Given the description of an element on the screen output the (x, y) to click on. 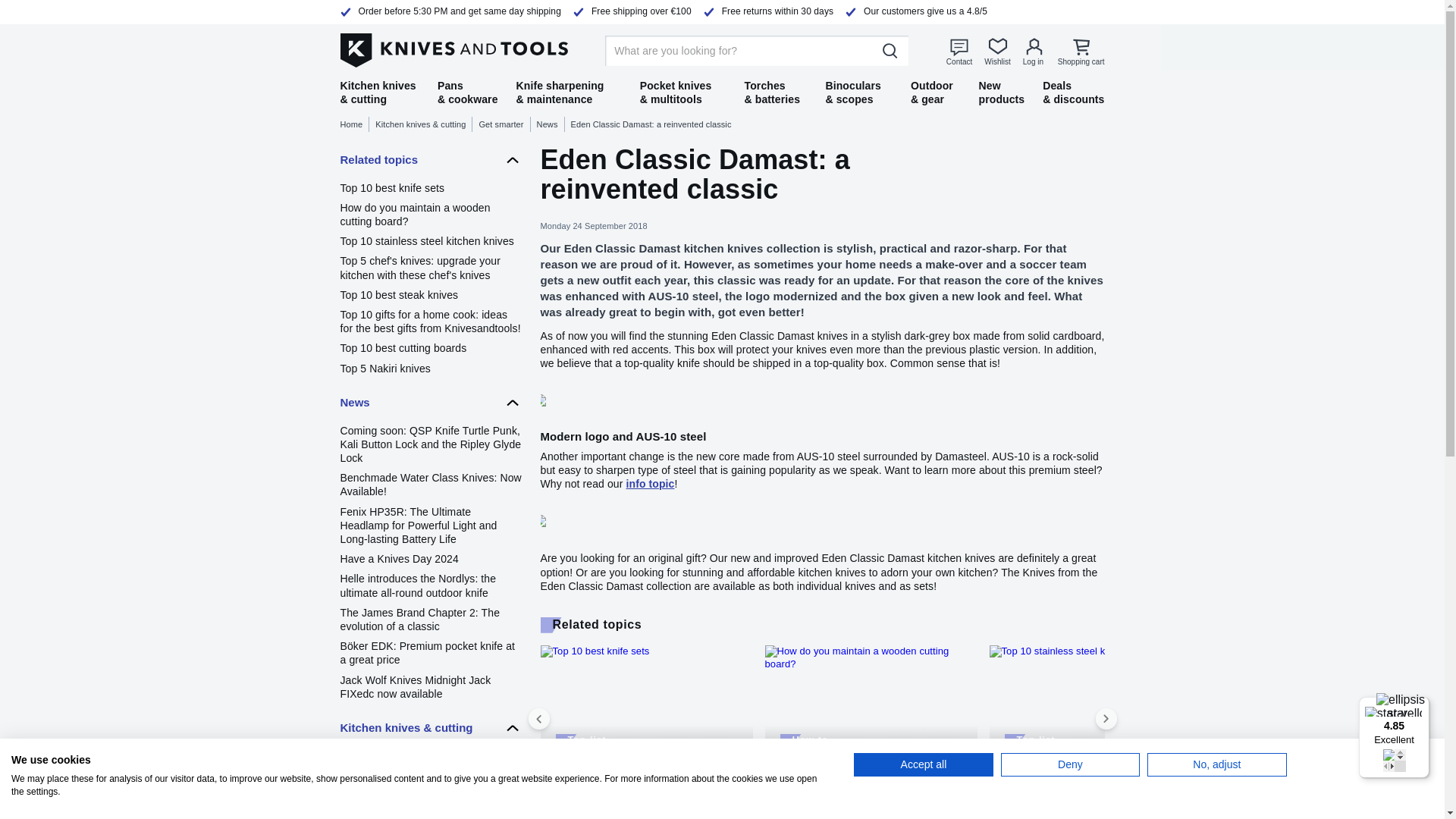
Top 10 best cutting boards (430, 347)
News (430, 402)
Wishlist (997, 51)
New products (1001, 92)
Log in (1034, 51)
Top 10 best knife sets (430, 187)
Related topics (430, 159)
Have a Knives Day 2024 (430, 558)
Get smarter (504, 124)
Shopping cart (1081, 51)
Top 5 Nakiri knives (430, 368)
Home (354, 124)
